Given the description of an element on the screen output the (x, y) to click on. 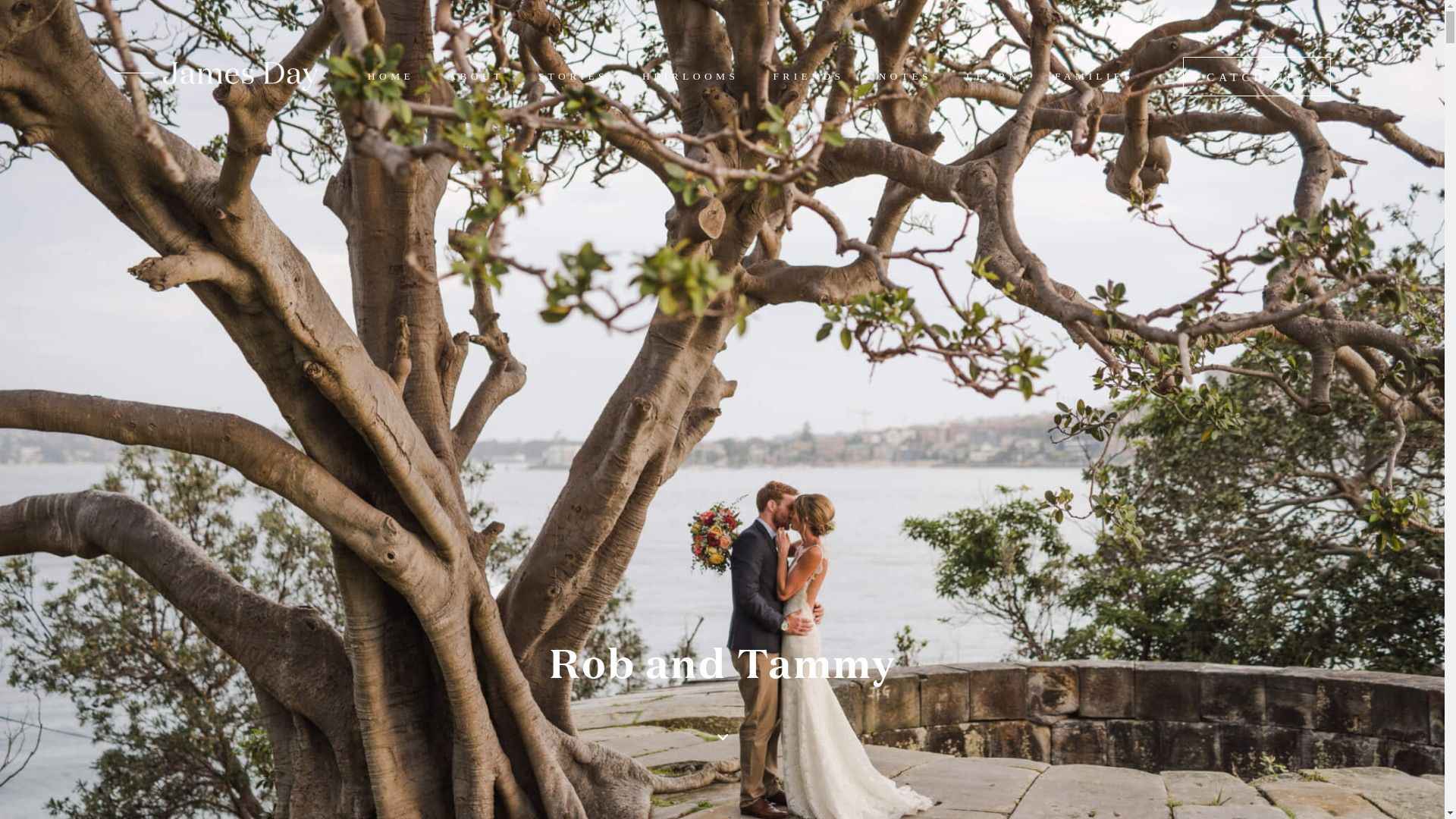
HEIRLOOMS Element type: text (690, 75)
ABOUT Element type: text (476, 75)
HOME Element type: text (390, 75)
STORIES Element type: text (573, 75)
CATCH UP? Element type: text (1256, 76)
LEARN Element type: text (993, 75)
NOTES Element type: text (904, 75)
FAMILIES Element type: text (1093, 75)
FRIENDS Element type: text (808, 75)
